Given the description of an element on the screen output the (x, y) to click on. 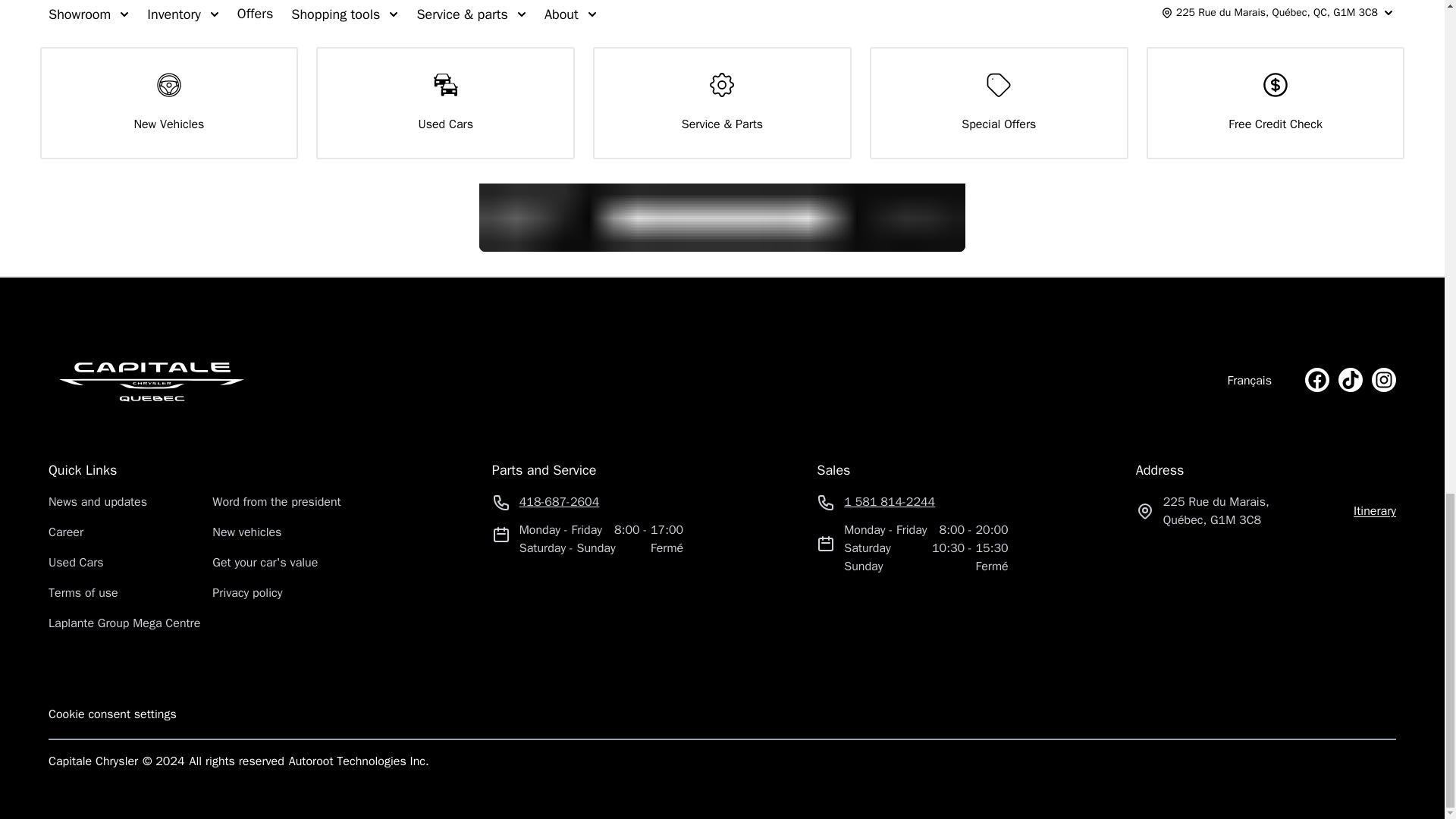
Car dealership website designer (360, 761)
